Given the description of an element on the screen output the (x, y) to click on. 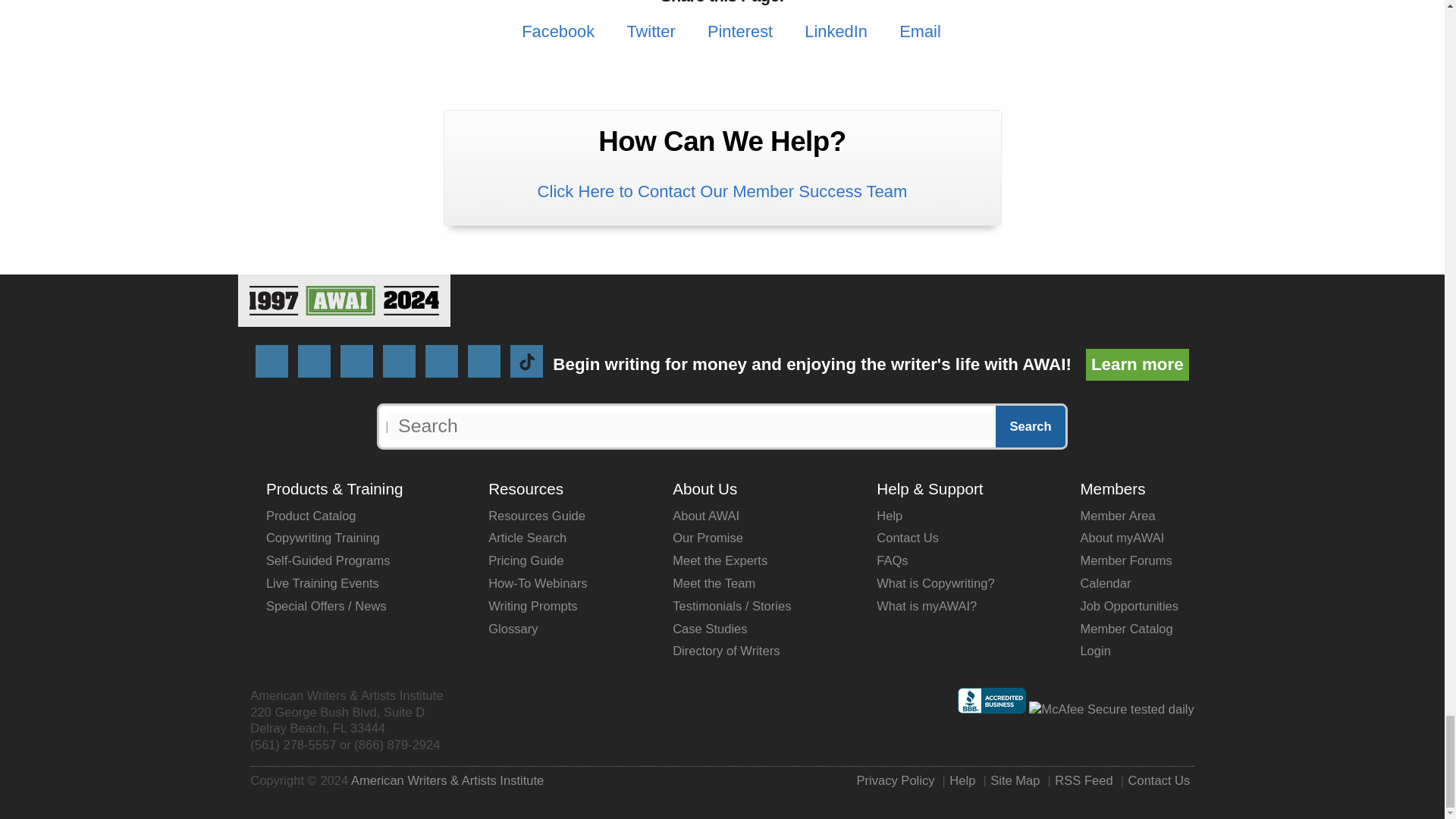
McAfee Secure Verified (1111, 709)
Better Business Bureau Accredited Business (992, 708)
McAfee Secure Verified (1111, 708)
Better Business Bureau Accredited Business (992, 700)
